Given the description of an element on the screen output the (x, y) to click on. 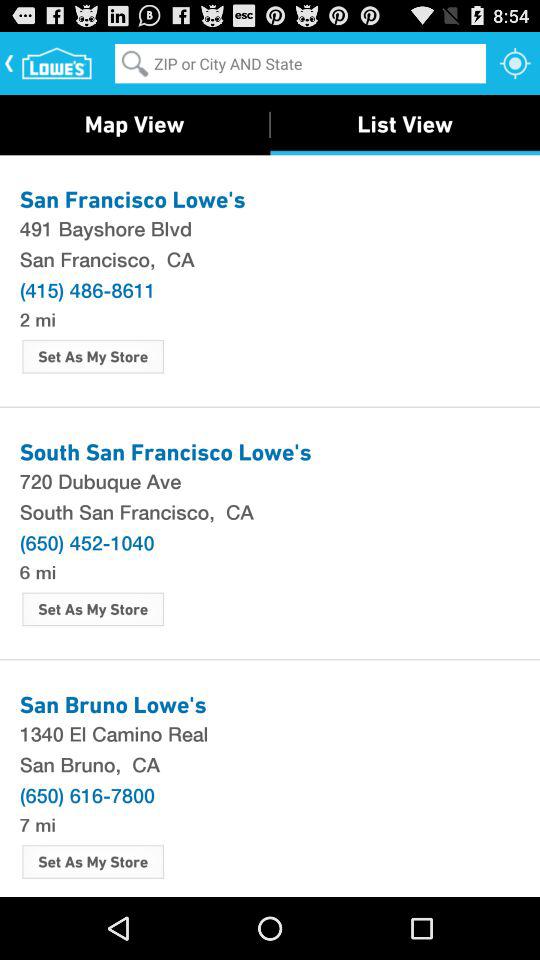
press the item above the south san francisco item (269, 480)
